Given the description of an element on the screen output the (x, y) to click on. 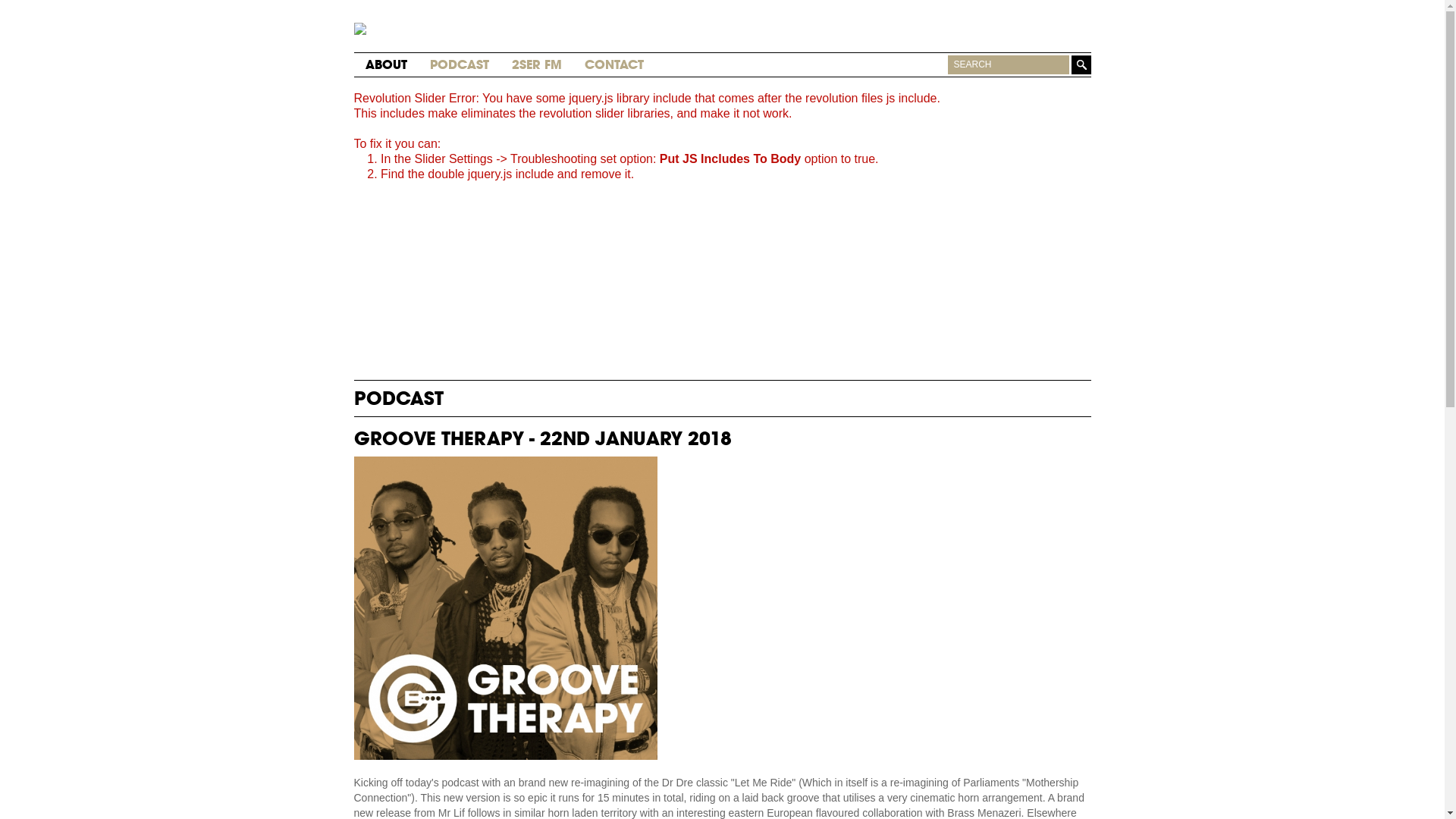
go Element type: text (1080, 64)
ABOUT Element type: text (386, 64)
2SER FM Element type: text (536, 64)
Groove Therapy Element type: text (501, 25)
PODCAST Element type: text (458, 64)
CONTACT Element type: text (613, 64)
